Given the description of an element on the screen output the (x, y) to click on. 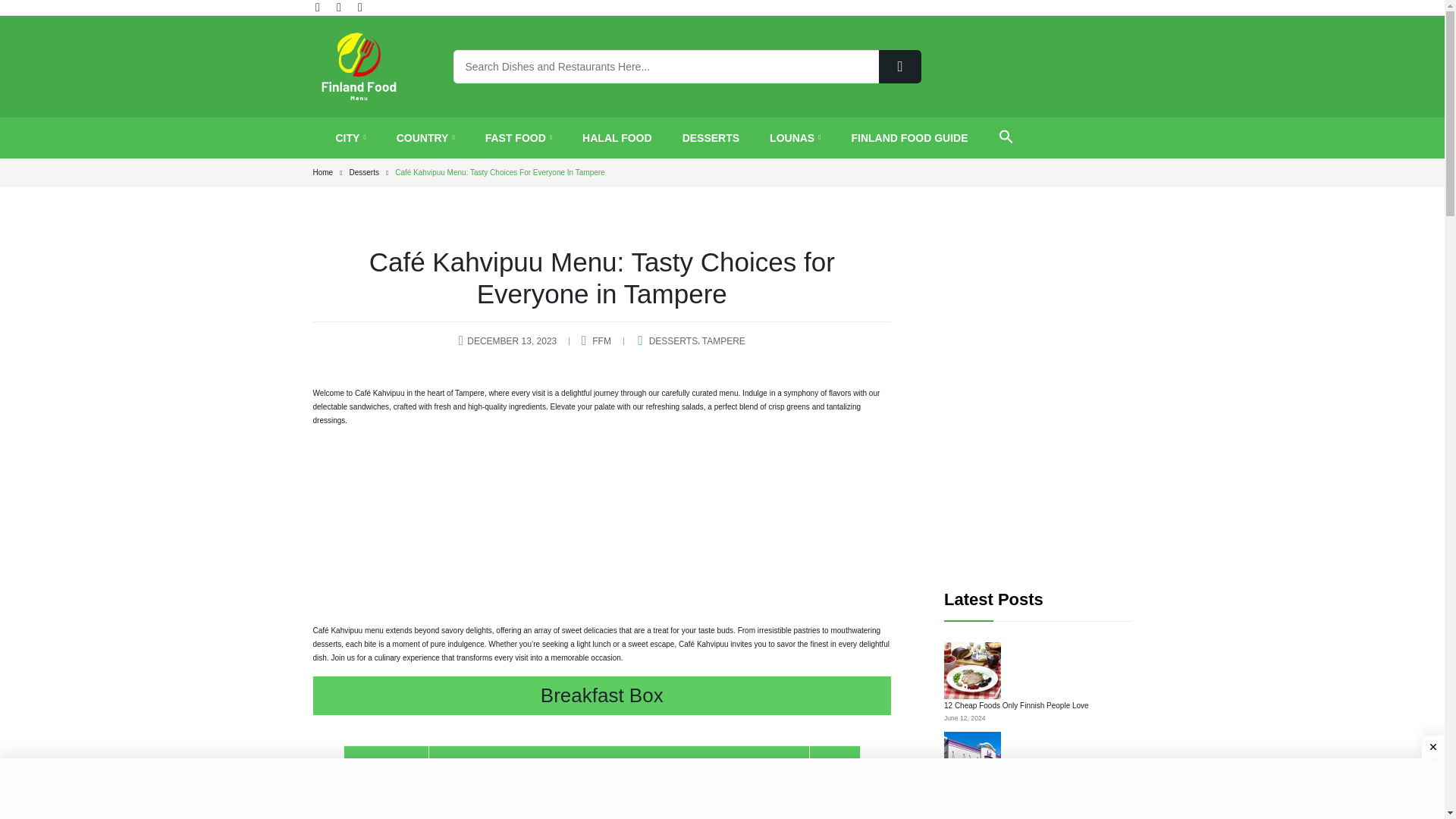
pinterest (340, 7)
youtube (361, 7)
FAST FOOD (517, 137)
facebook (319, 7)
COUNTRY (425, 137)
